Given the description of an element on the screen output the (x, y) to click on. 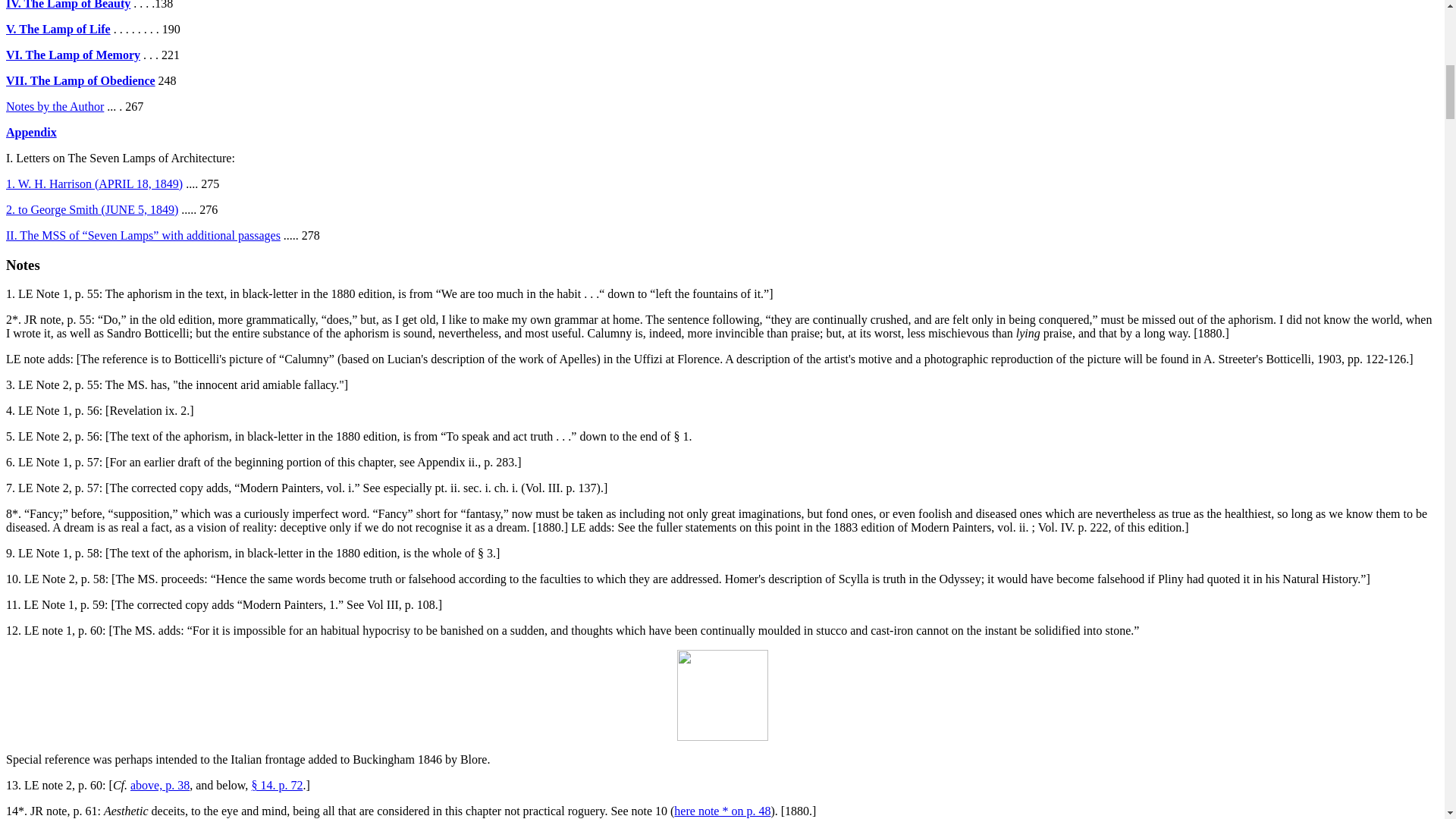
12 (11, 630)
V. The Lamp of Life (57, 29)
IV. The Lamp of Beauty (68, 4)
10 (11, 578)
VI. The Lamp of Memory (72, 54)
VII. The Lamp of Obedience (80, 80)
Appendix (30, 132)
Notes by the Author (54, 106)
